Given the description of an element on the screen output the (x, y) to click on. 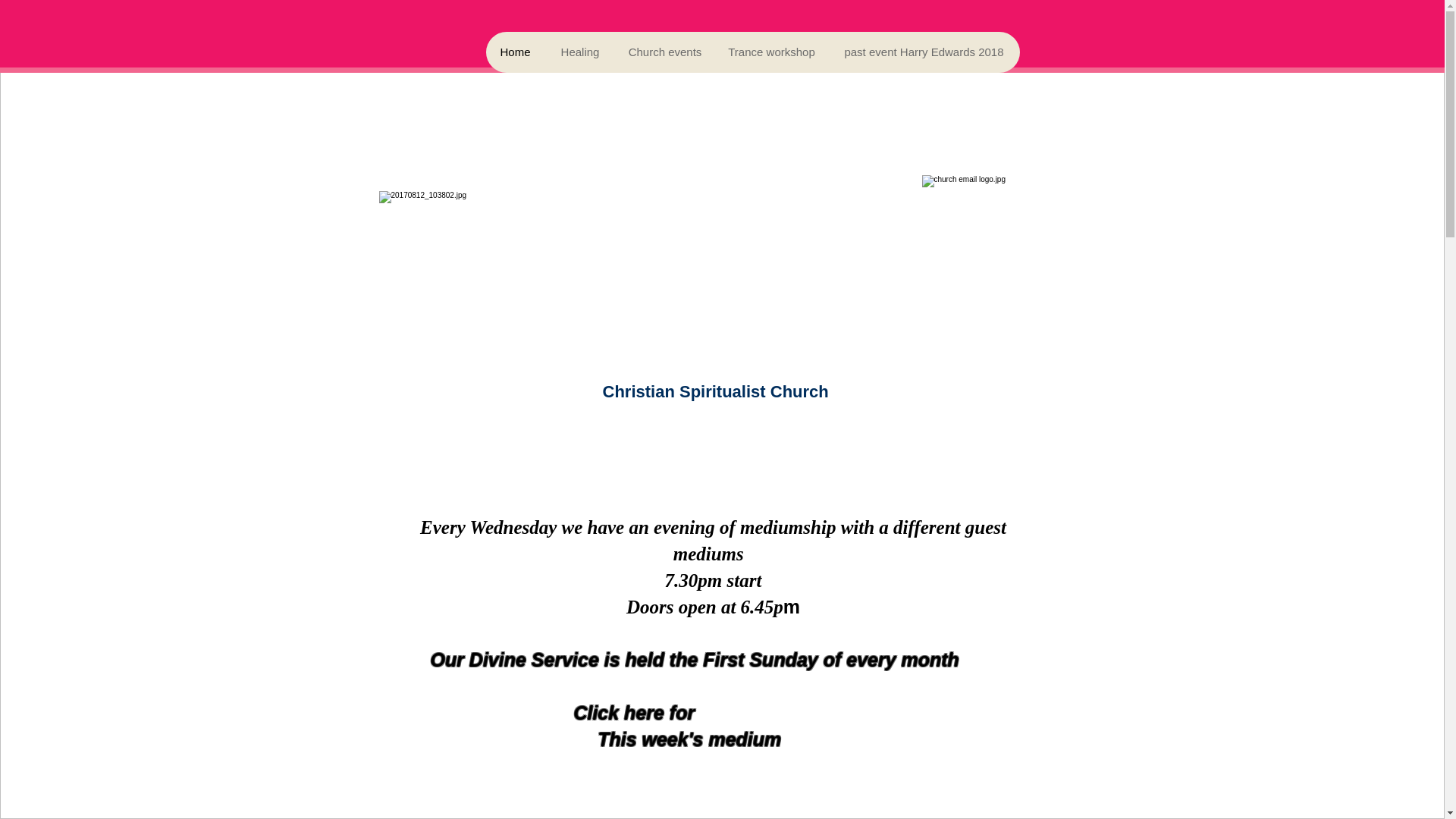
past event Harry Edwards 2018 (924, 51)
Home (514, 51)
Healing (579, 51)
Church events (664, 51)
